Given the description of an element on the screen output the (x, y) to click on. 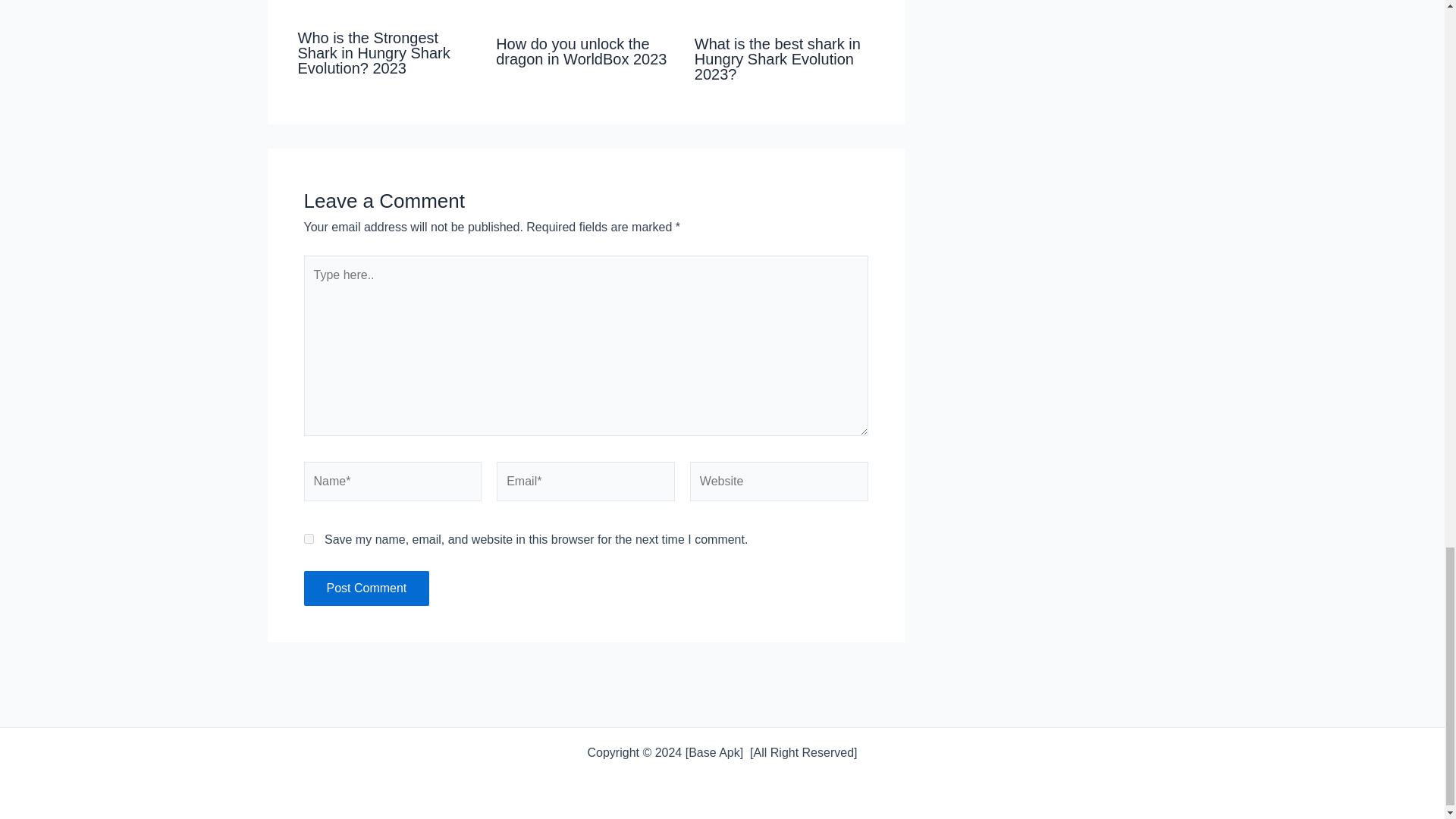
Love (585, 12)
Post Comment (365, 588)
Love (784, 12)
yes (307, 538)
Love (387, 9)
